Given the description of an element on the screen output the (x, y) to click on. 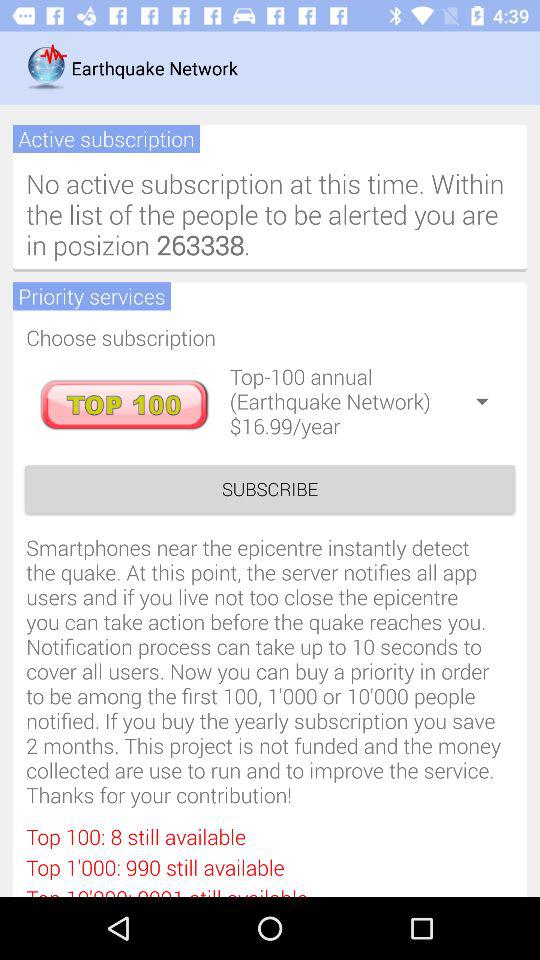
select subscribe (269, 488)
